Given the description of an element on the screen output the (x, y) to click on. 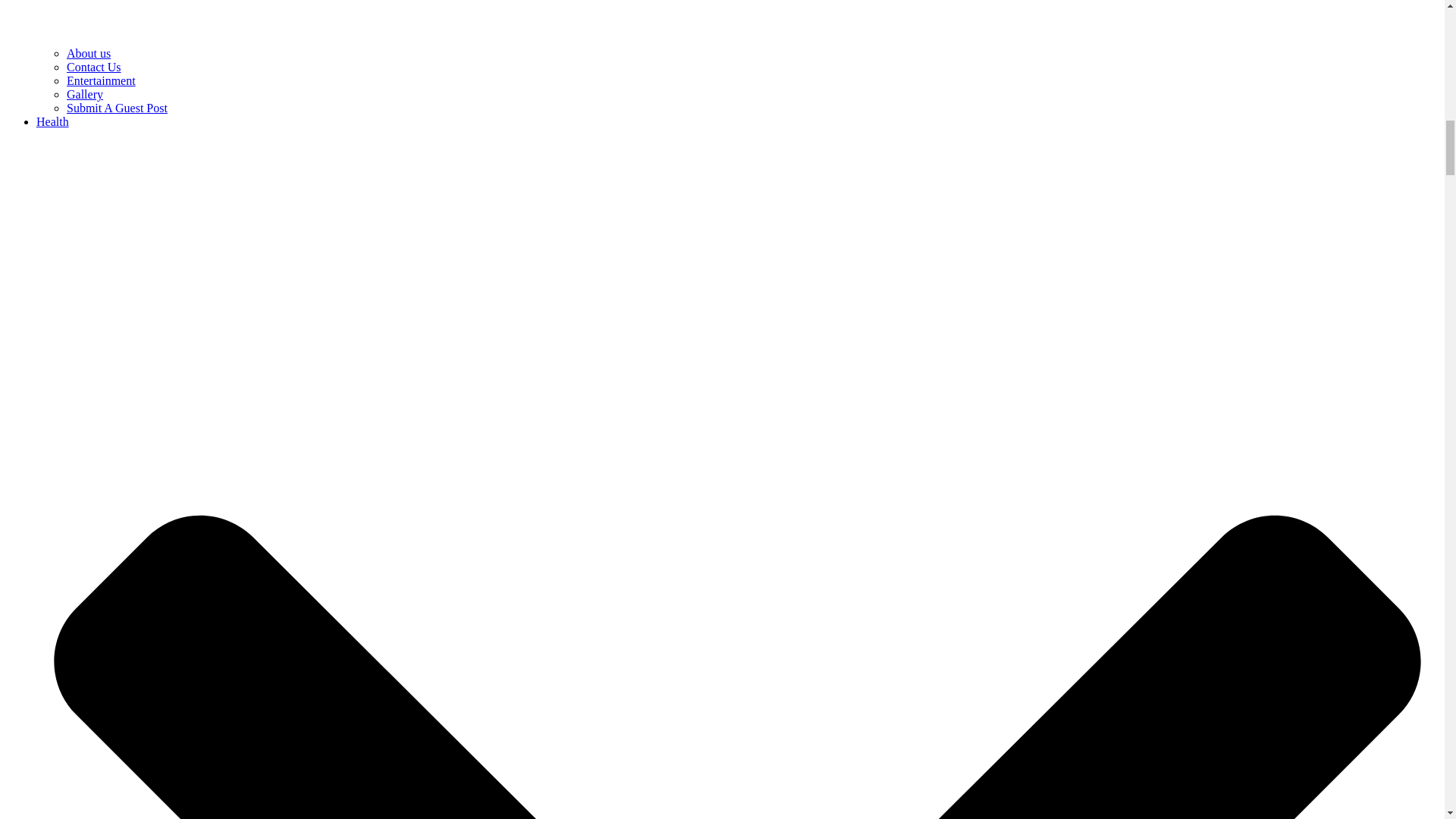
Submit A Guest Post (116, 107)
About us (88, 52)
Contact Us (93, 66)
Entertainment (100, 80)
Entertainment (100, 80)
About us (88, 52)
Submit A Guest Post (116, 107)
Gallery (84, 93)
Contact Us (93, 66)
Gallery (84, 93)
